Given the description of an element on the screen output the (x, y) to click on. 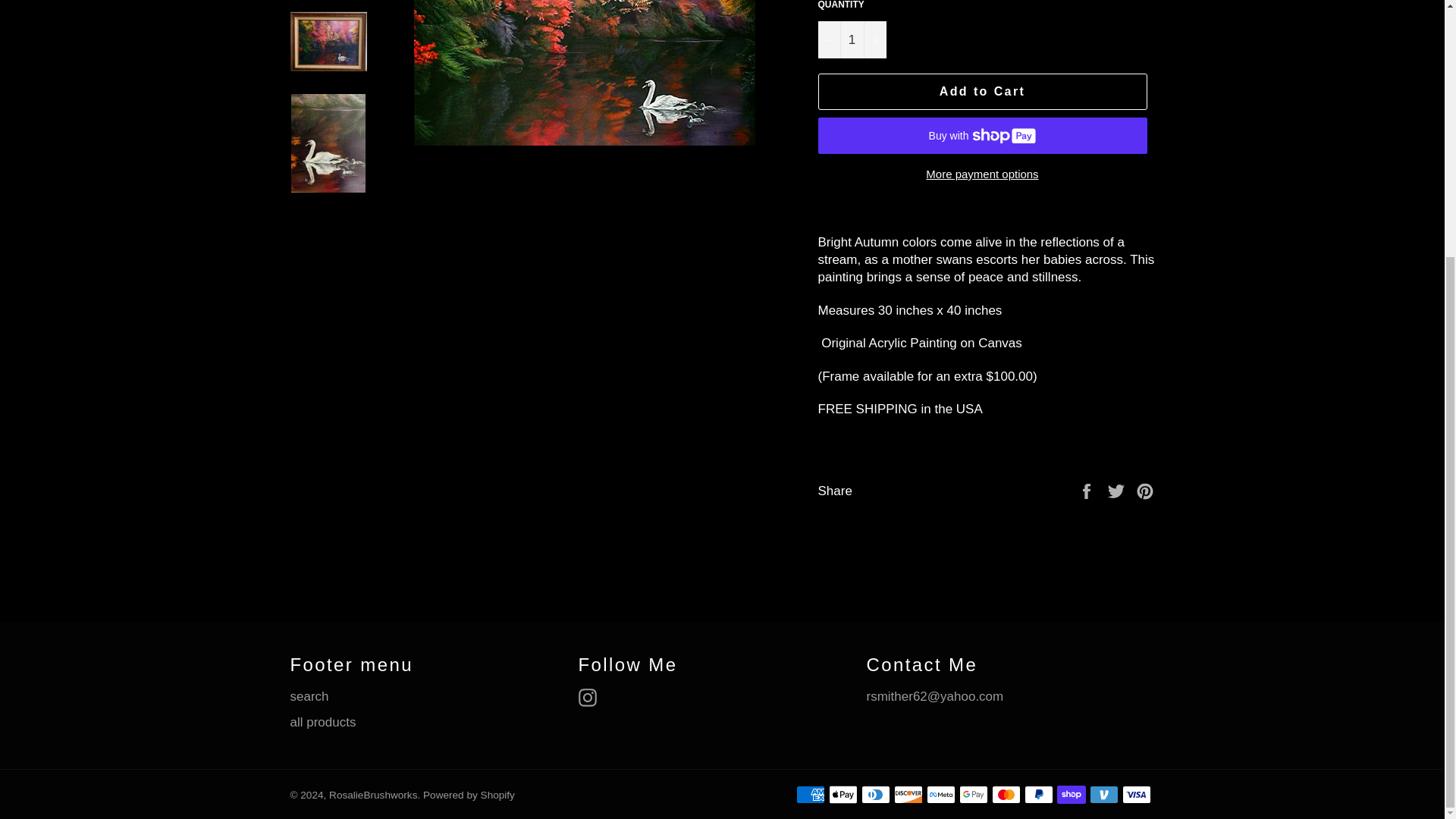
search (309, 696)
Share on Facebook (1088, 490)
all products (322, 721)
Add to Cart (981, 91)
RosalieBrushworks (372, 794)
More payment options (981, 174)
Share on Facebook (1088, 490)
Pin on Pinterest (1144, 490)
1 (850, 39)
Instagram (591, 696)
Pin on Pinterest (1144, 490)
Tweet on Twitter (1117, 490)
Powered by Shopify (469, 794)
RosalieBrushworks on Instagram (591, 696)
Tweet on Twitter (1117, 490)
